Given the description of an element on the screen output the (x, y) to click on. 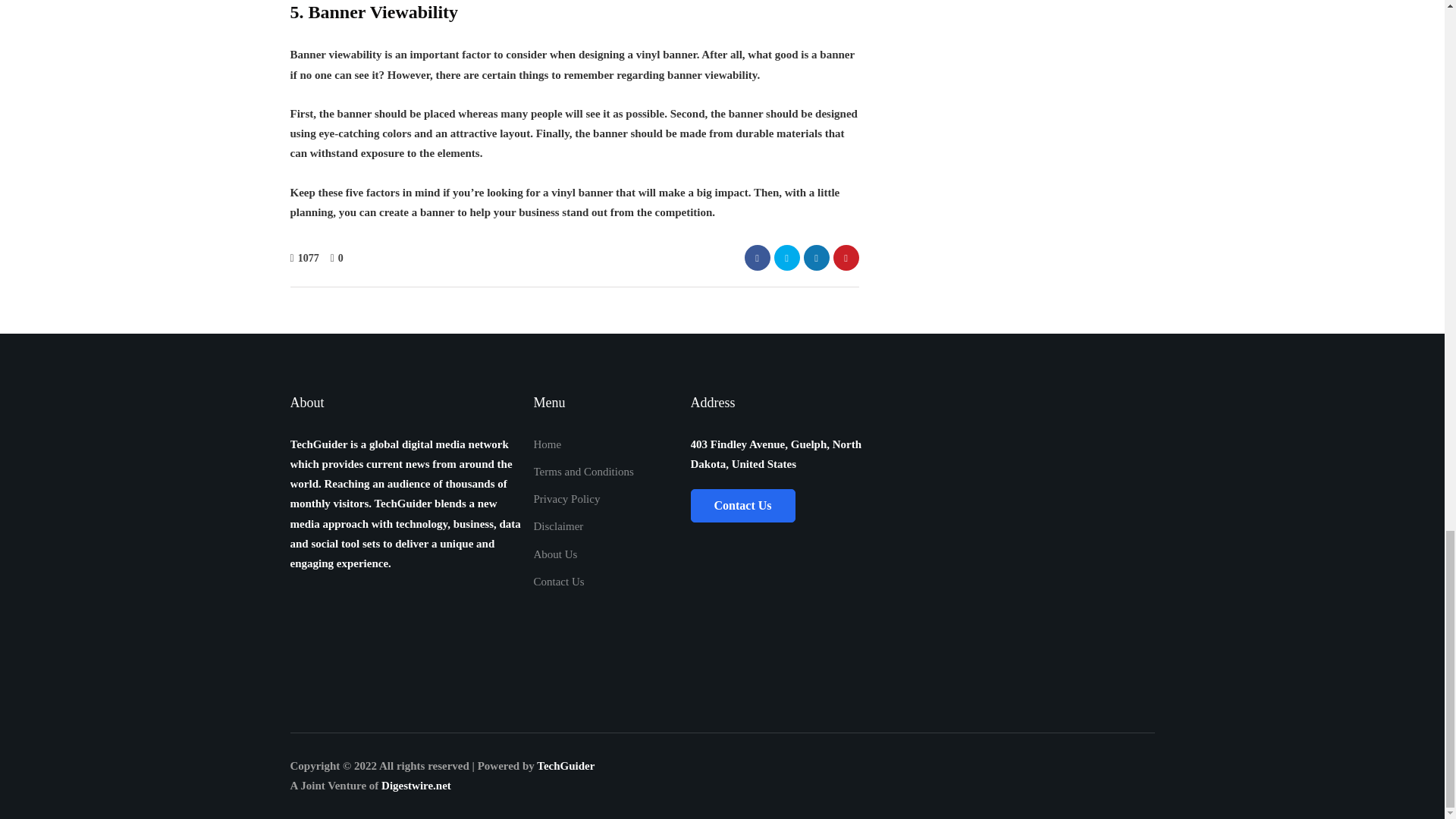
Share with Facebook (757, 257)
Share with LinkedIn (816, 257)
Pin this (845, 257)
Tweet this (786, 257)
